Given the description of an element on the screen output the (x, y) to click on. 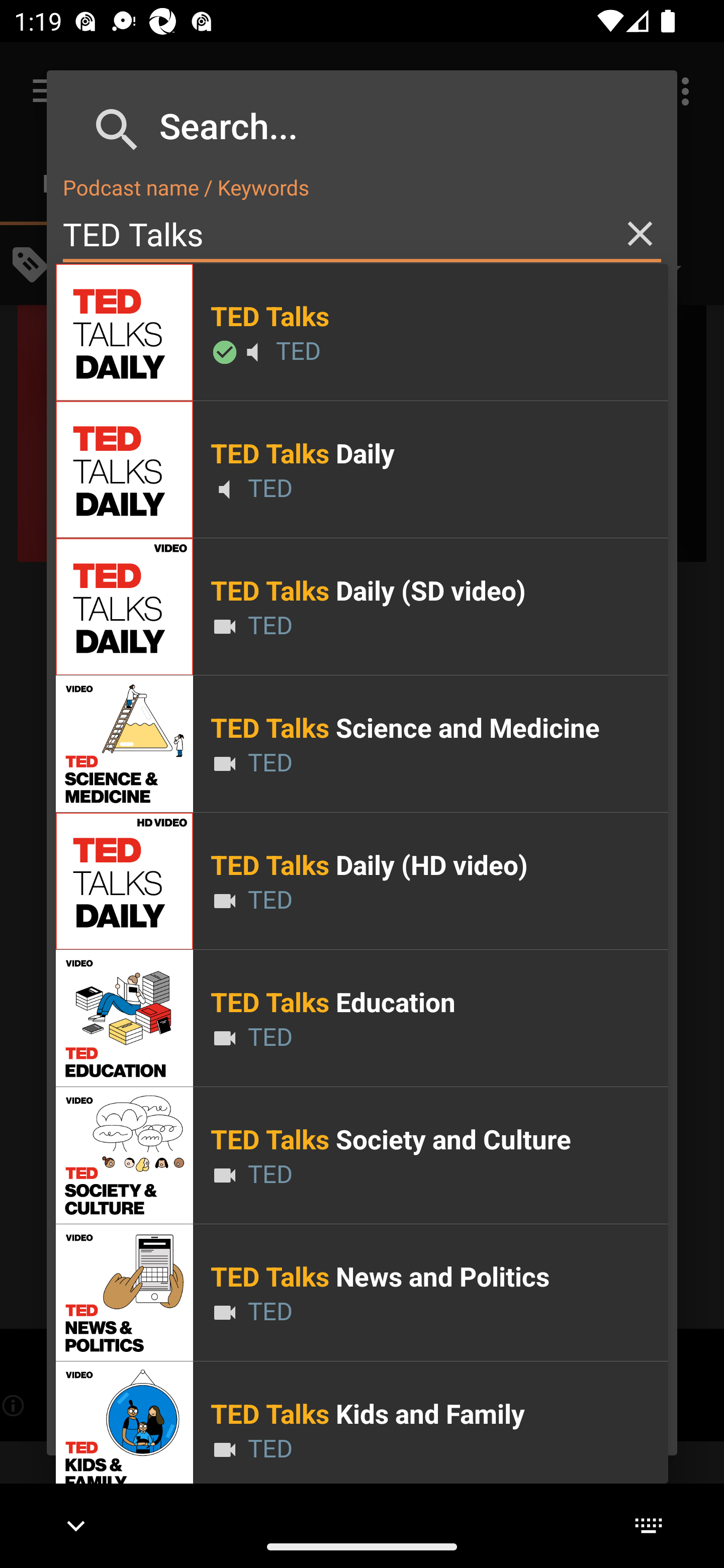
TED Talks (361, 234)
